Given the description of an element on the screen output the (x, y) to click on. 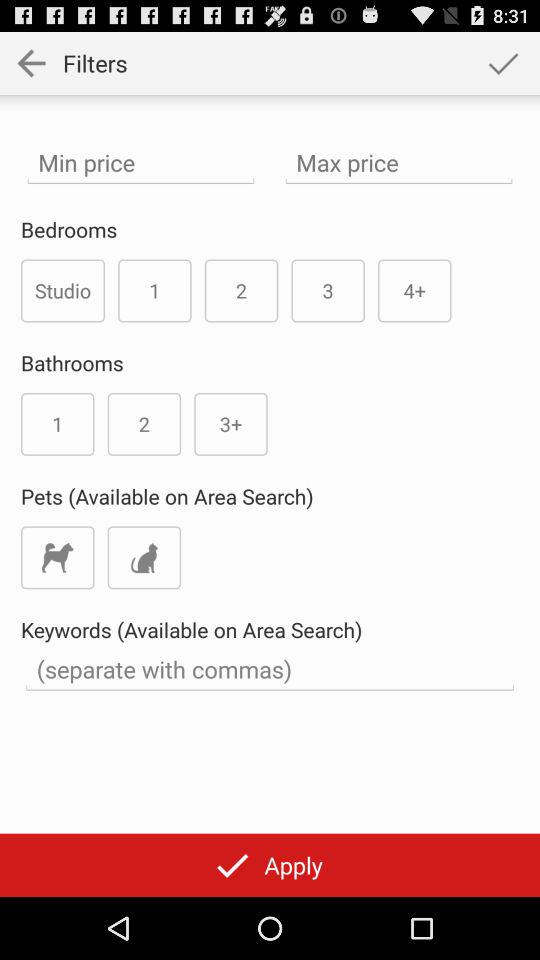
turn on the icon above keywords available on (144, 557)
